Given the description of an element on the screen output the (x, y) to click on. 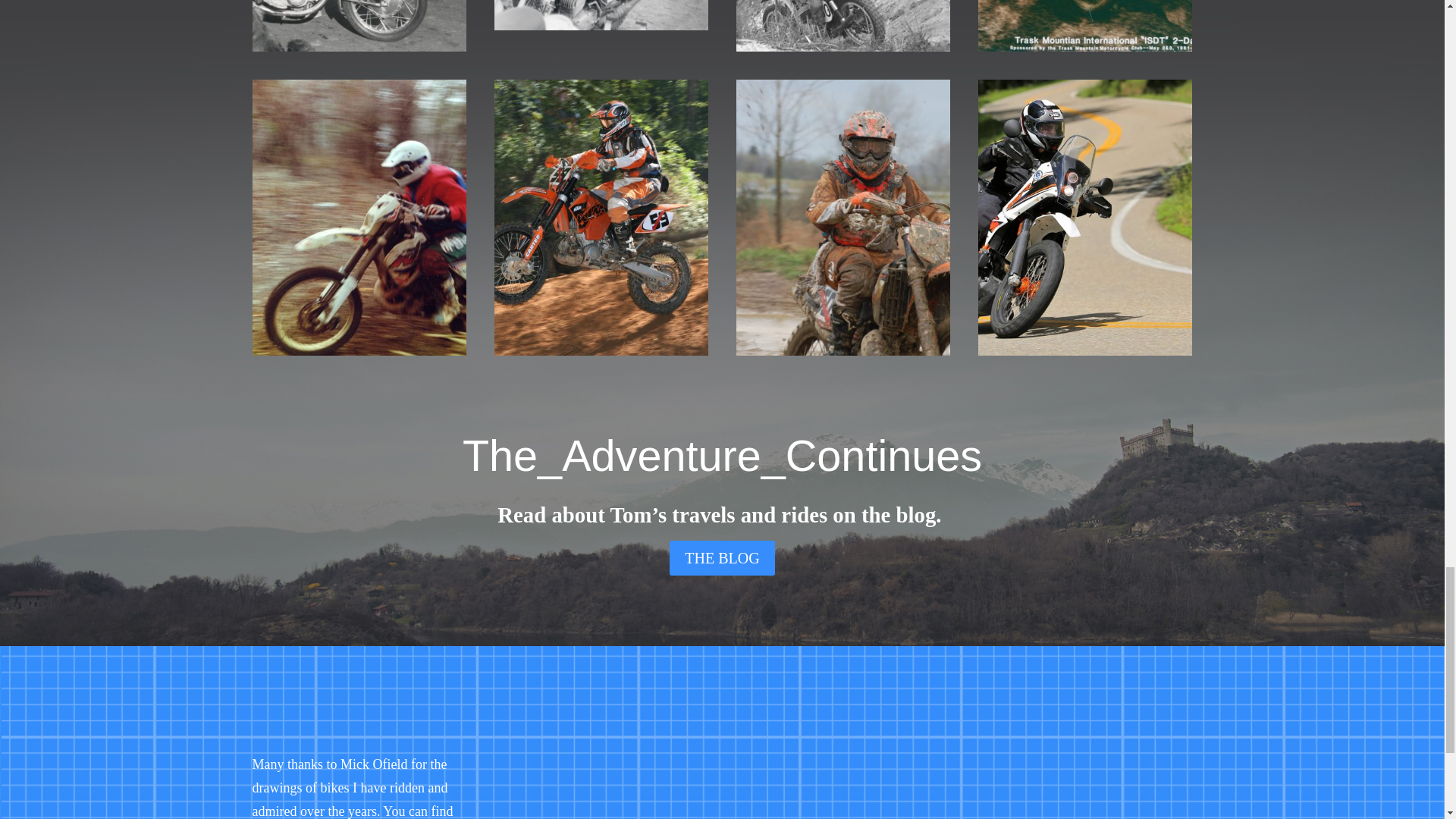
Early 70's race at Gatorback (843, 46)
THE BLOG (721, 557)
Egyptian HS 2010 (843, 350)
GNCC 2007 (601, 350)
Trask Two-Day 1981 (1085, 46)
Louisville-1965 or 66 (358, 46)
Hare Scrambles - 1995 (358, 350)
KTM 690 - Tale of the Dragon - 2019 (1085, 350)
1971 CZ - Indian Dunes -1972 (601, 25)
